Given the description of an element on the screen output the (x, y) to click on. 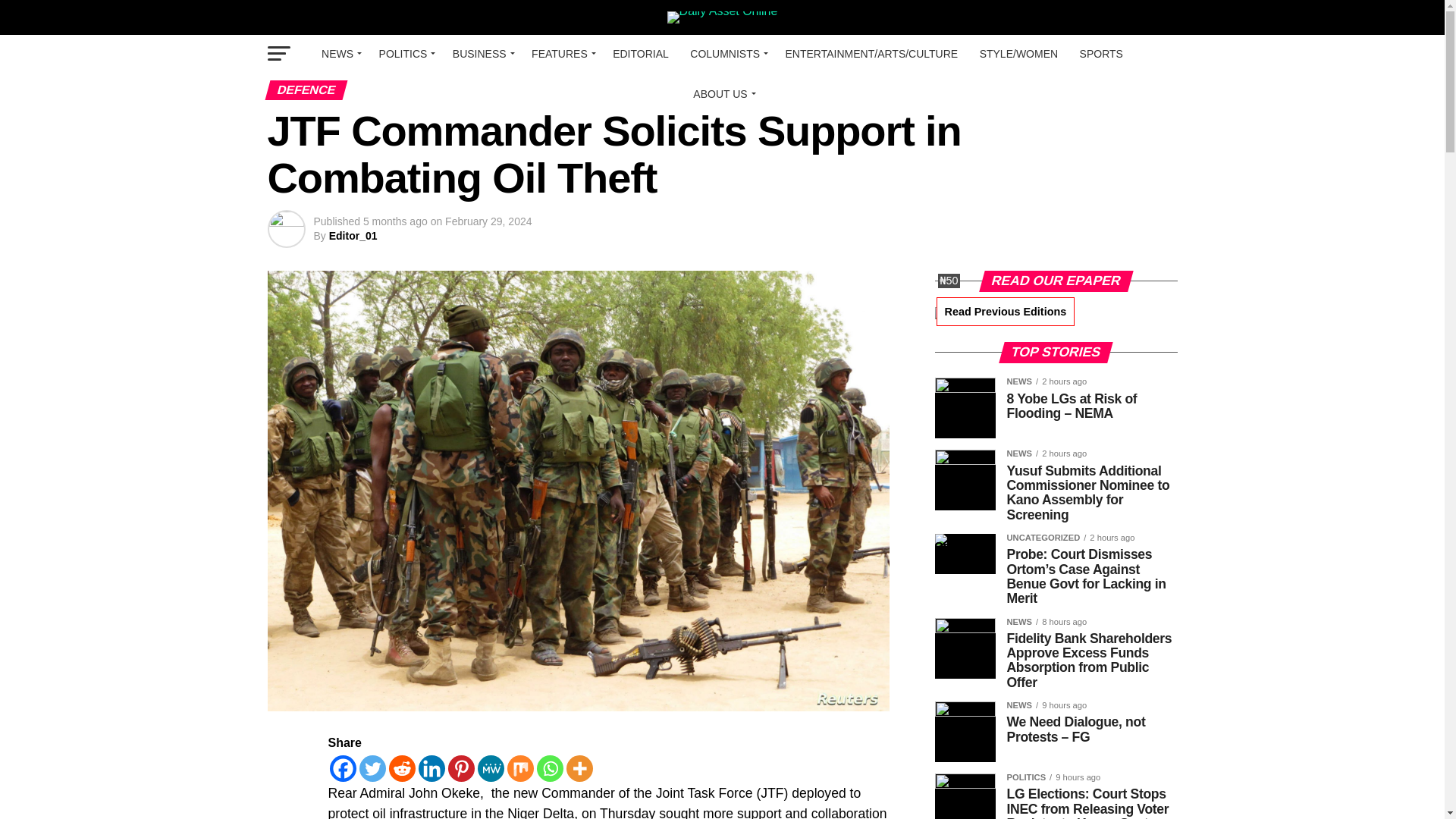
Facebook (342, 768)
Mix (519, 768)
POLITICS (405, 53)
Reddit (401, 768)
Whatsapp (550, 768)
Pinterest (460, 768)
BUSINESS (481, 53)
More (579, 768)
NEWS (339, 53)
MeWe (490, 768)
Twitter (372, 768)
Linkedin (432, 768)
